Given the description of an element on the screen output the (x, y) to click on. 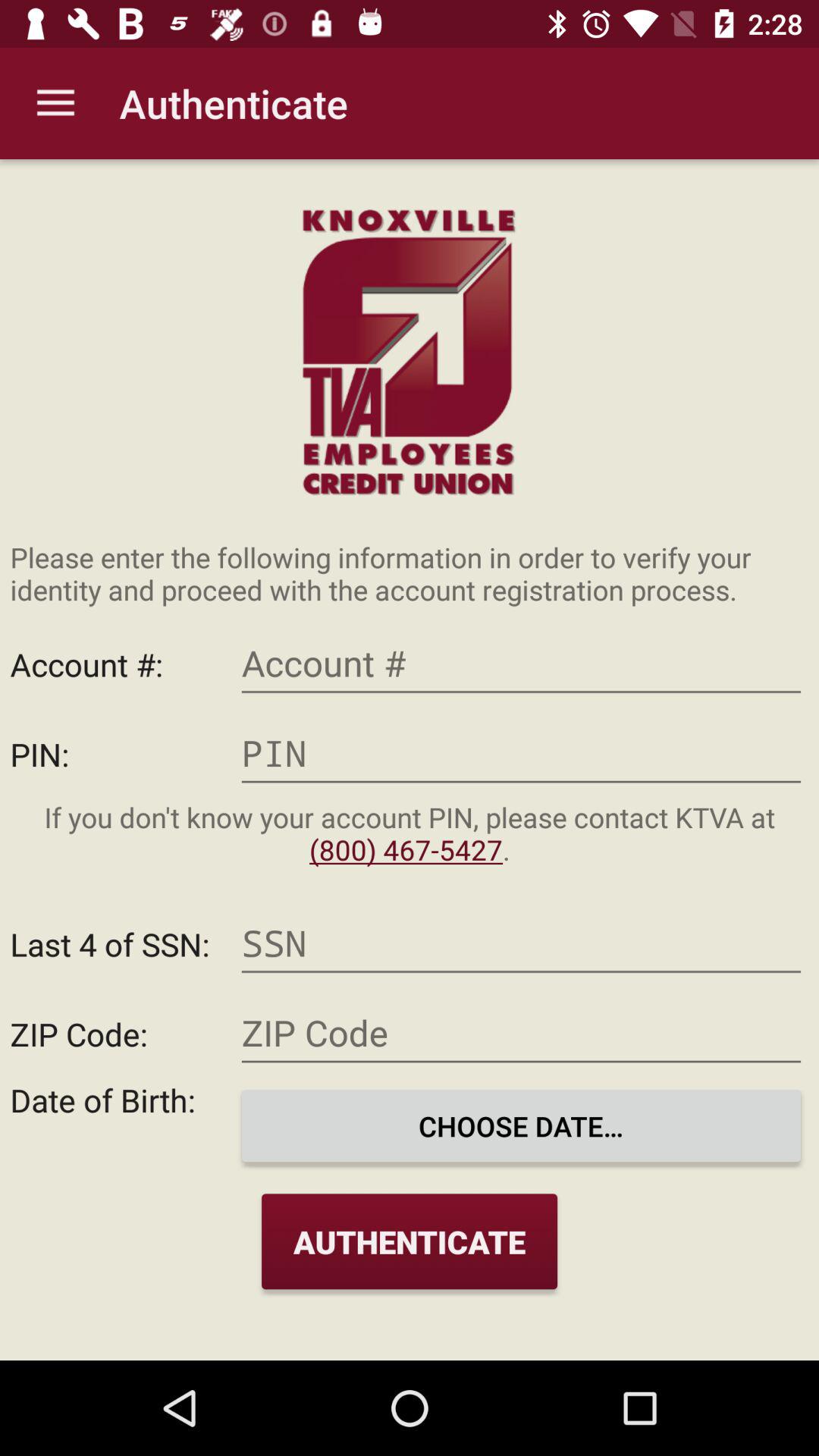
press the icon next to authenticate (55, 103)
